Given the description of an element on the screen output the (x, y) to click on. 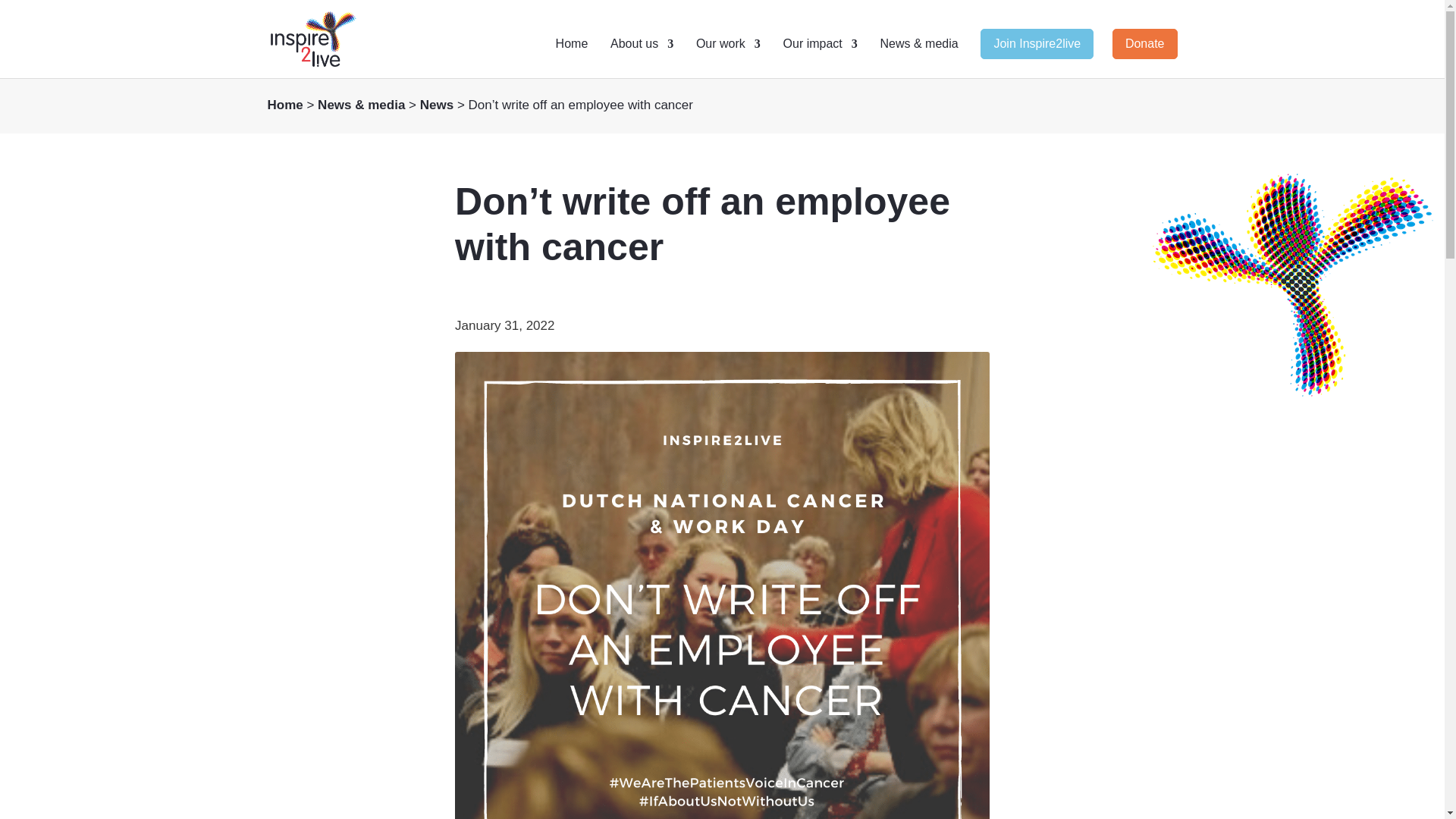
Our work (727, 57)
About us (641, 57)
Our impact (820, 57)
